Given the description of an element on the screen output the (x, y) to click on. 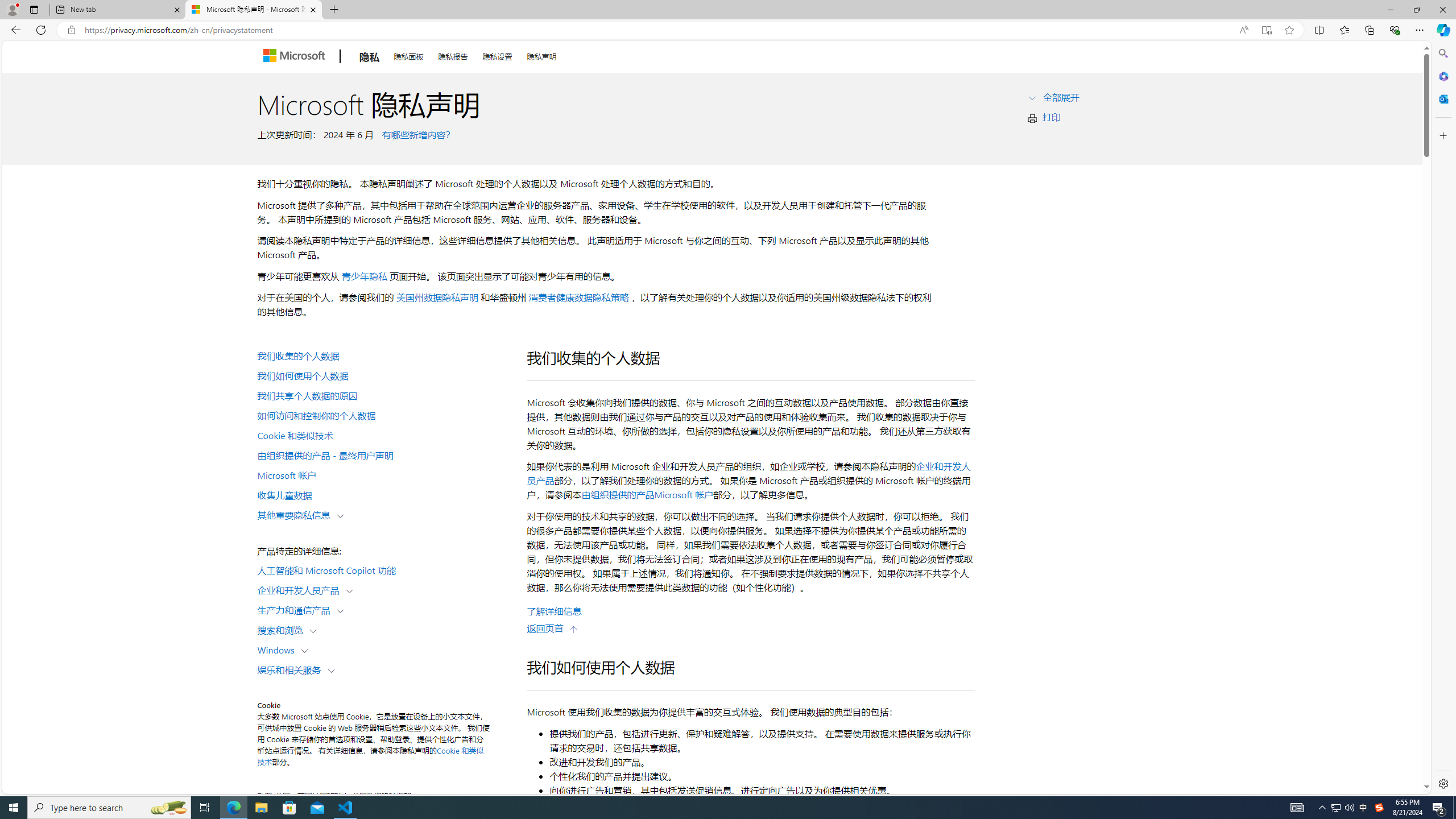
Windows (278, 649)
